Given the description of an element on the screen output the (x, y) to click on. 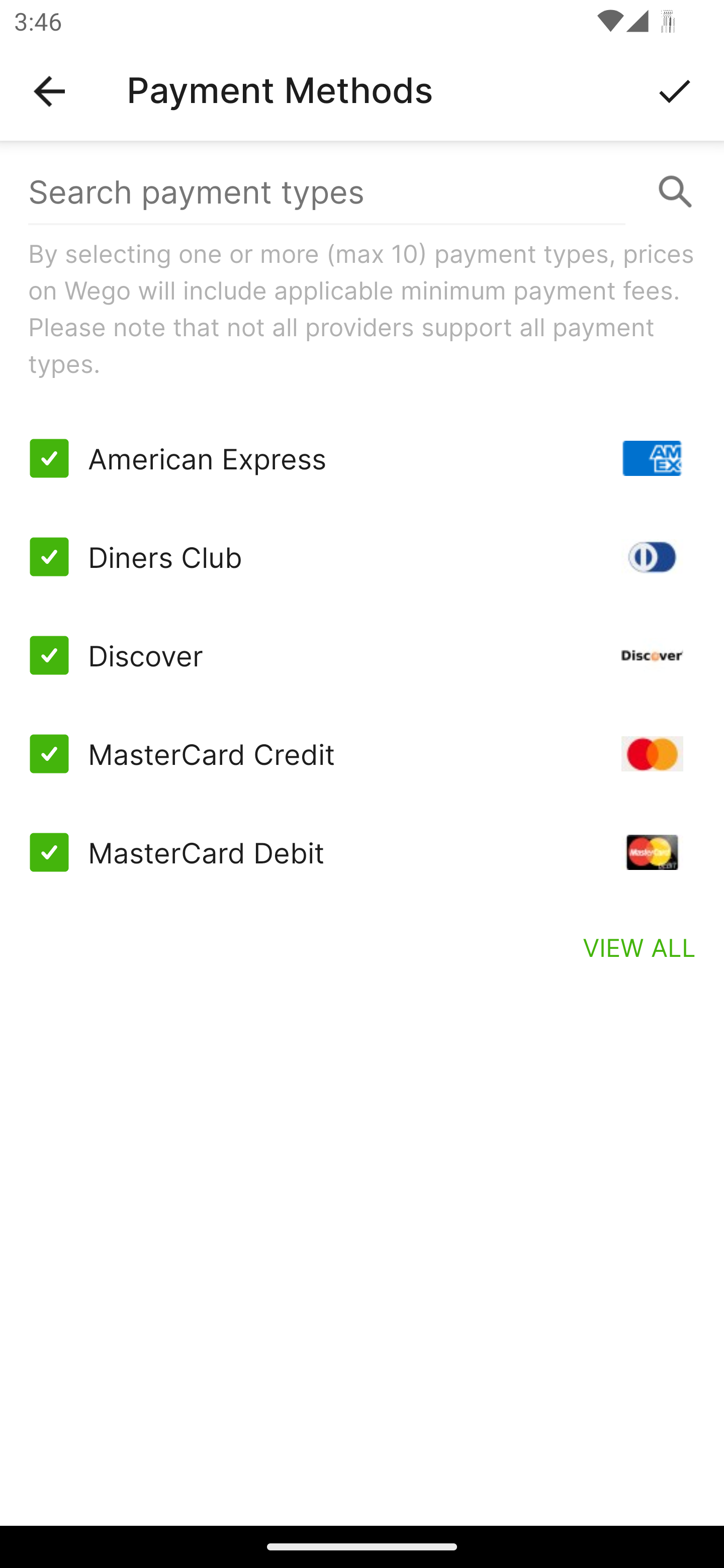
Search payment types  (361, 191)
American Express (362, 458)
Diners Club (362, 557)
Discover (362, 655)
MasterCard Credit (362, 753)
MasterCard Debit (362, 851)
VIEW ALL (639, 946)
